Given the description of an element on the screen output the (x, y) to click on. 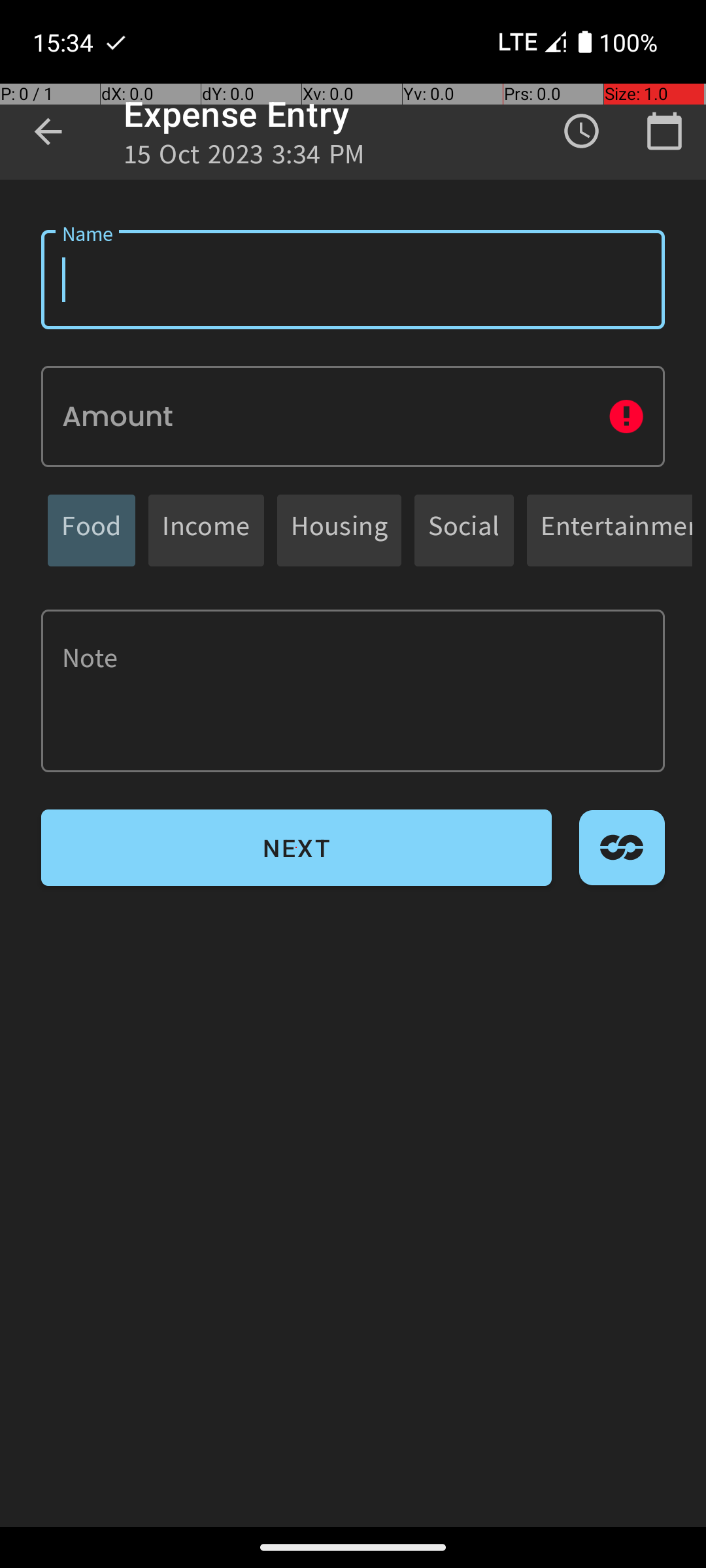
NEXT Element type: android.widget.Button (296, 847)
